Given the description of an element on the screen output the (x, y) to click on. 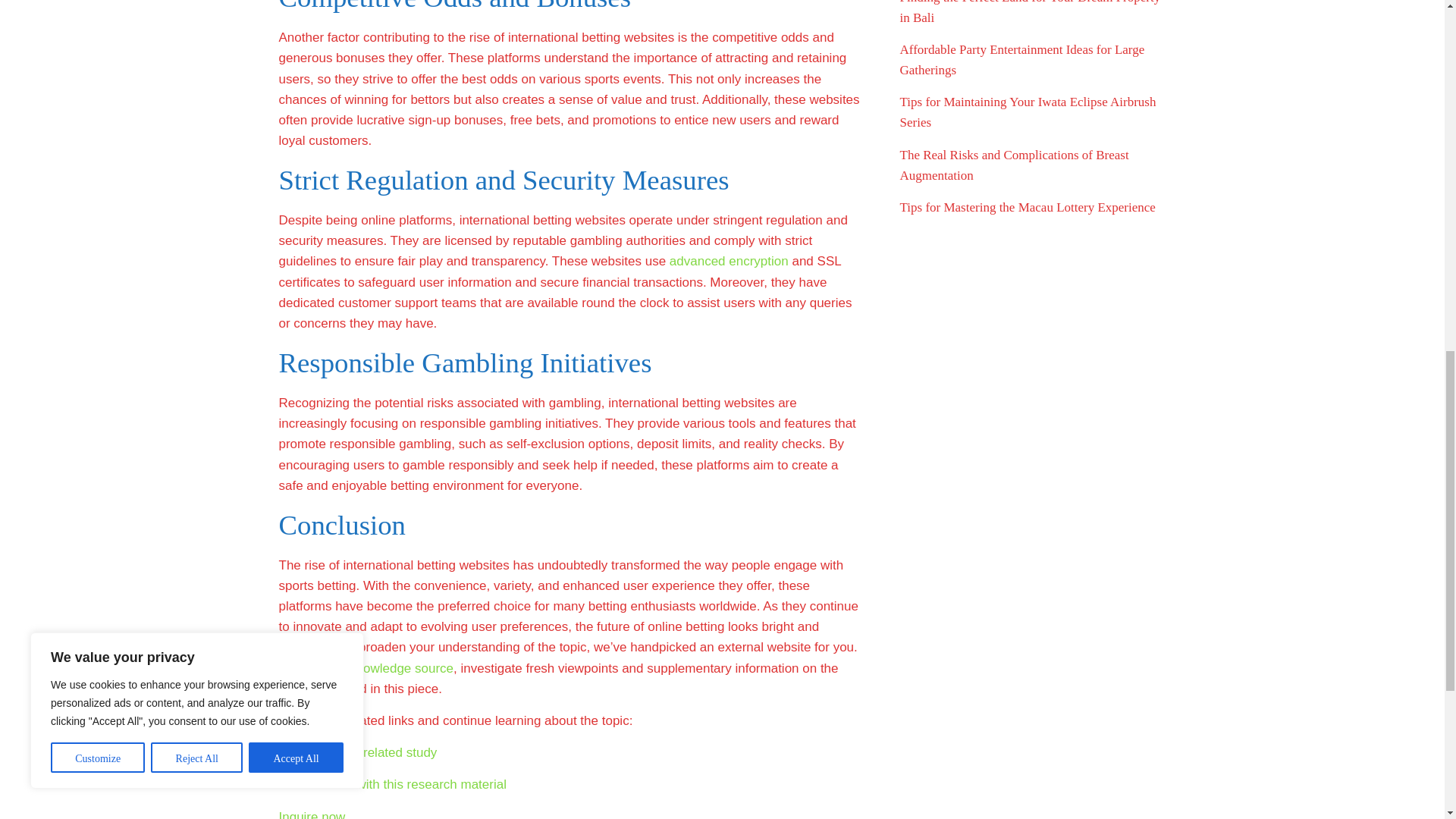
advanced encryption (729, 260)
Explore this knowledge source (366, 667)
Inquire now (312, 814)
Get informed with this research material (392, 784)
Delve into this related study (358, 752)
